Given the description of an element on the screen output the (x, y) to click on. 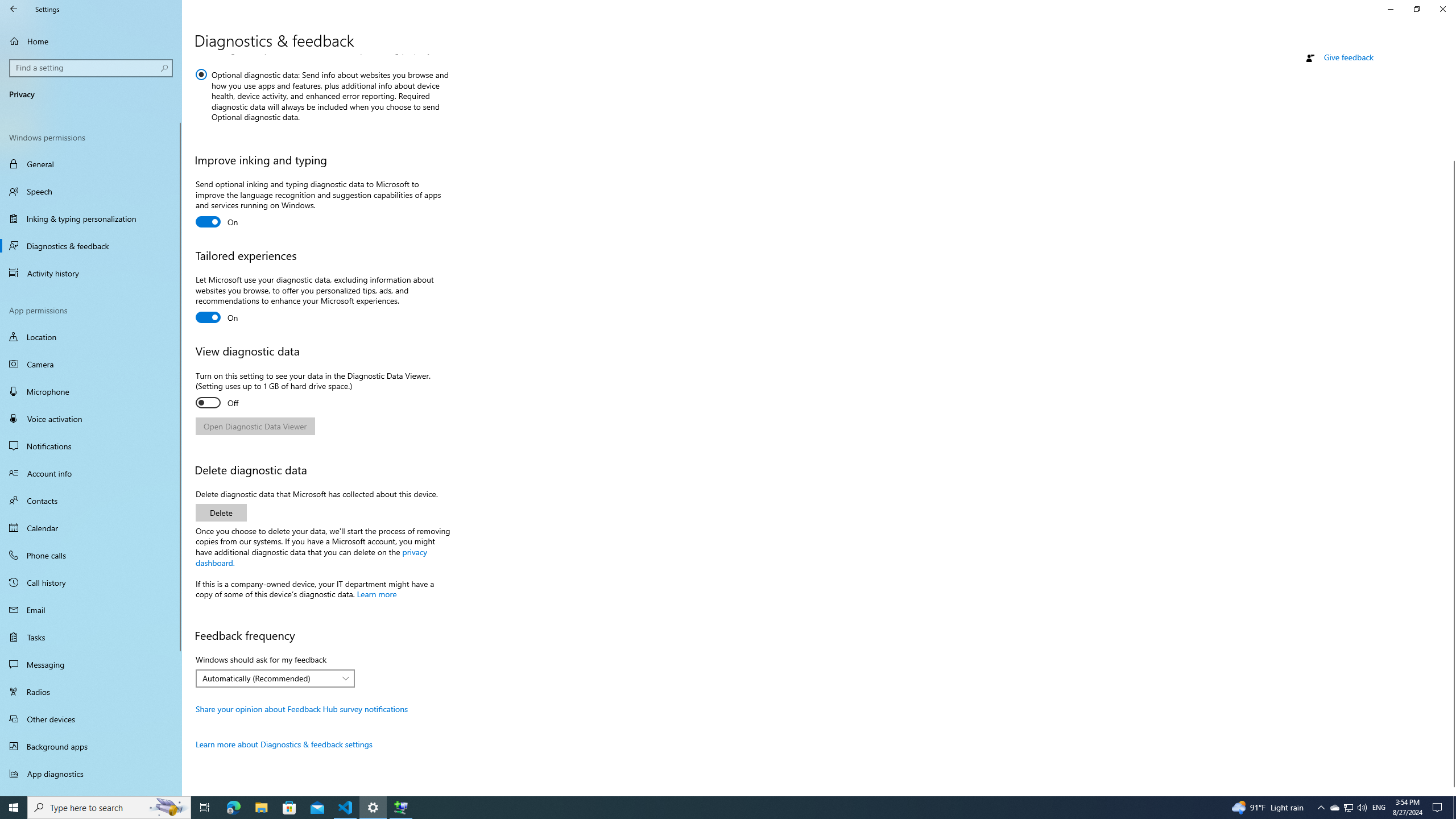
Call history (91, 582)
Learn more about Diagnostics & feedback settings (283, 743)
Activity history (91, 272)
Other devices (91, 718)
Notifications (91, 445)
Camera (91, 363)
Windows should ask for my feedback (275, 678)
Vertical Large Decrease (1451, 112)
Automatically (Recommended) (269, 678)
Radios (91, 691)
